Given the description of an element on the screen output the (x, y) to click on. 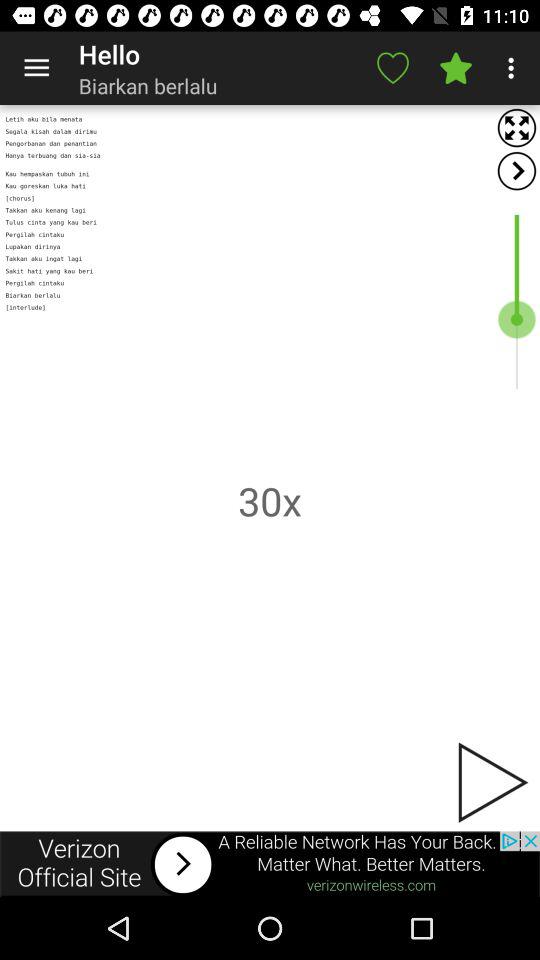
forward (516, 170)
